Given the description of an element on the screen output the (x, y) to click on. 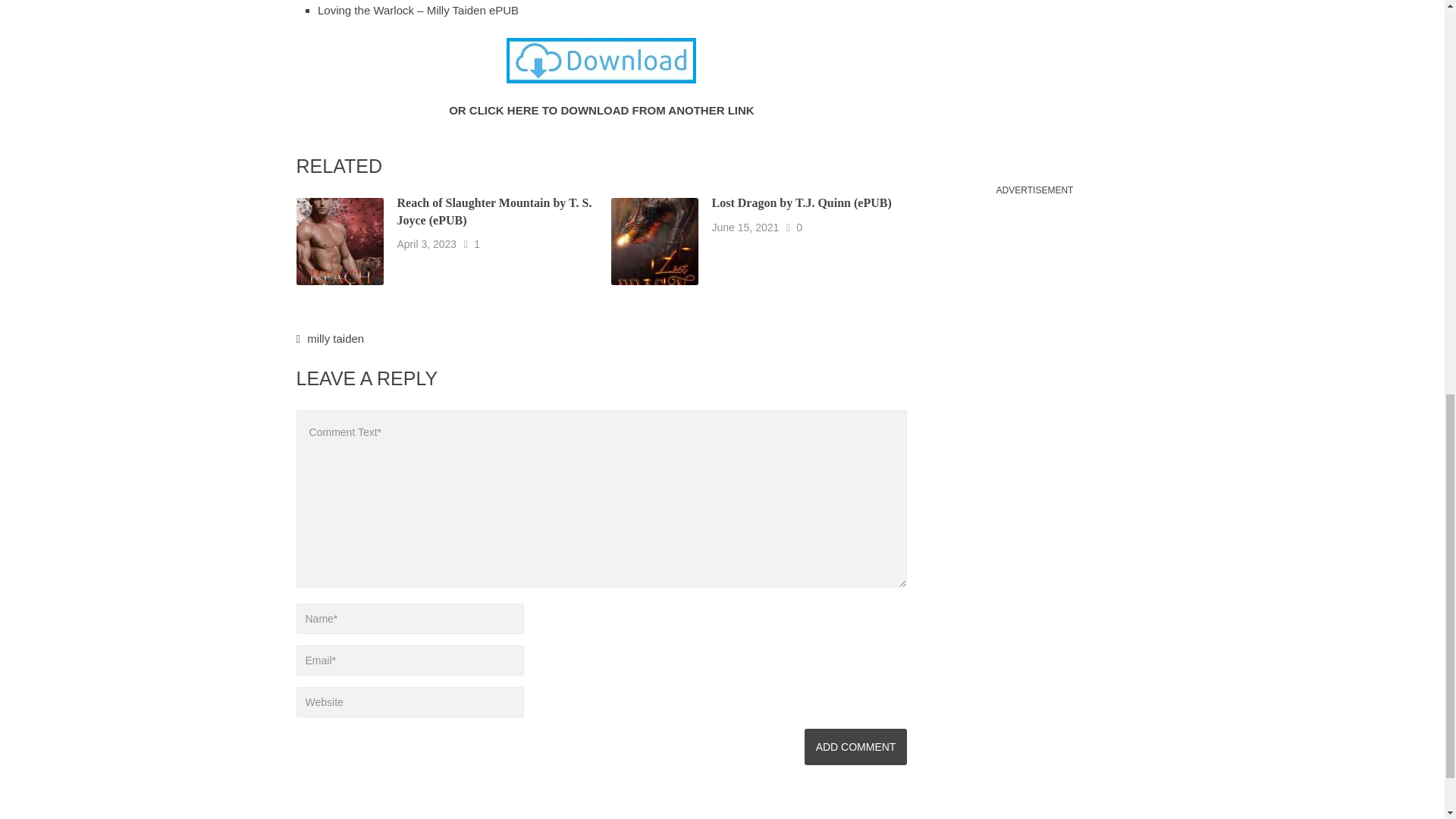
Add Comment (856, 746)
milly taiden (335, 338)
Add Comment (856, 746)
OR CLICK HERE TO DOWNLOAD FROM ANOTHER LINK (601, 109)
